Given the description of an element on the screen output the (x, y) to click on. 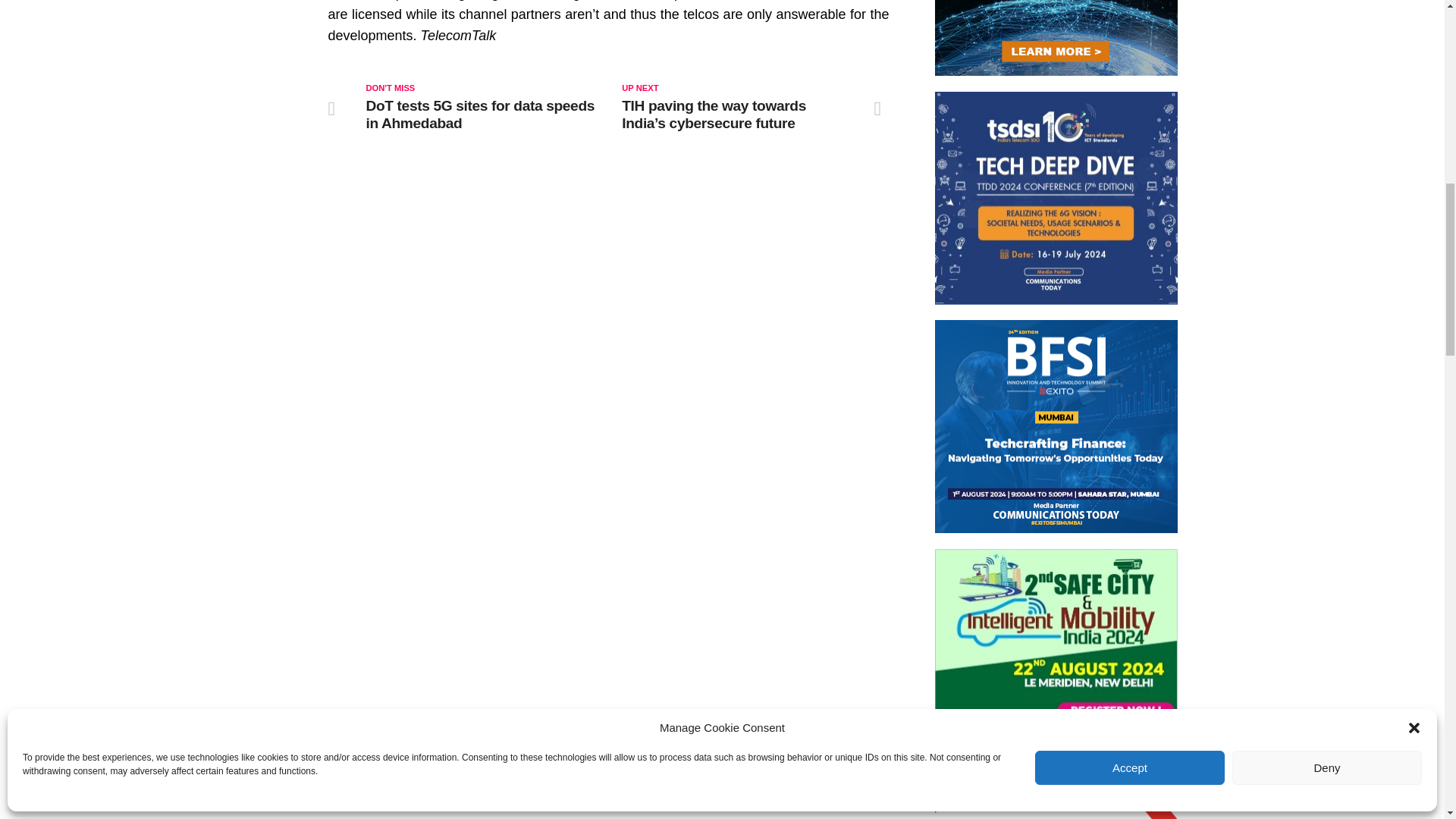
Deny (1326, 358)
Accept (1129, 358)
